Given the description of an element on the screen output the (x, y) to click on. 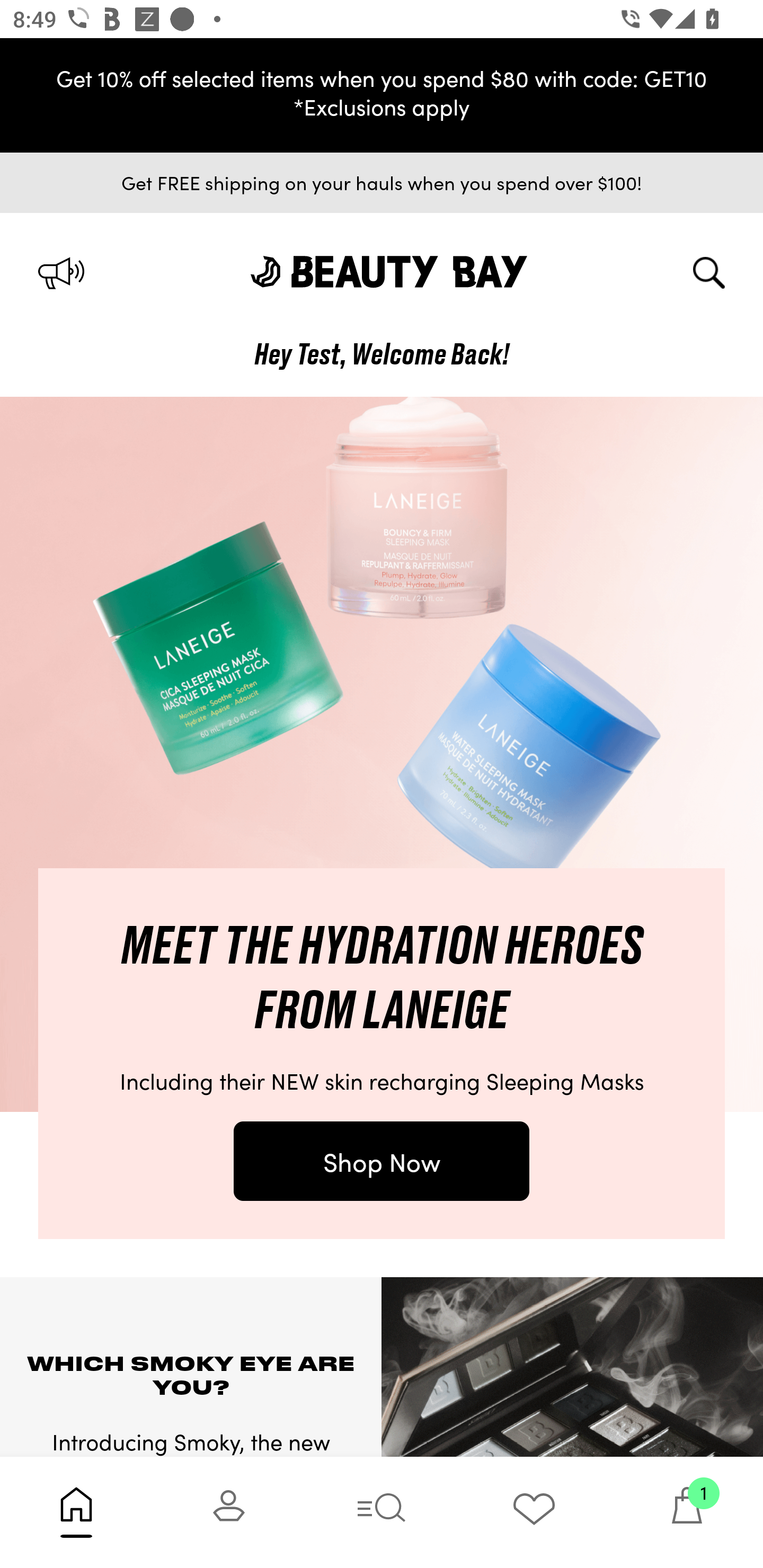
1 (686, 1512)
